Given the description of an element on the screen output the (x, y) to click on. 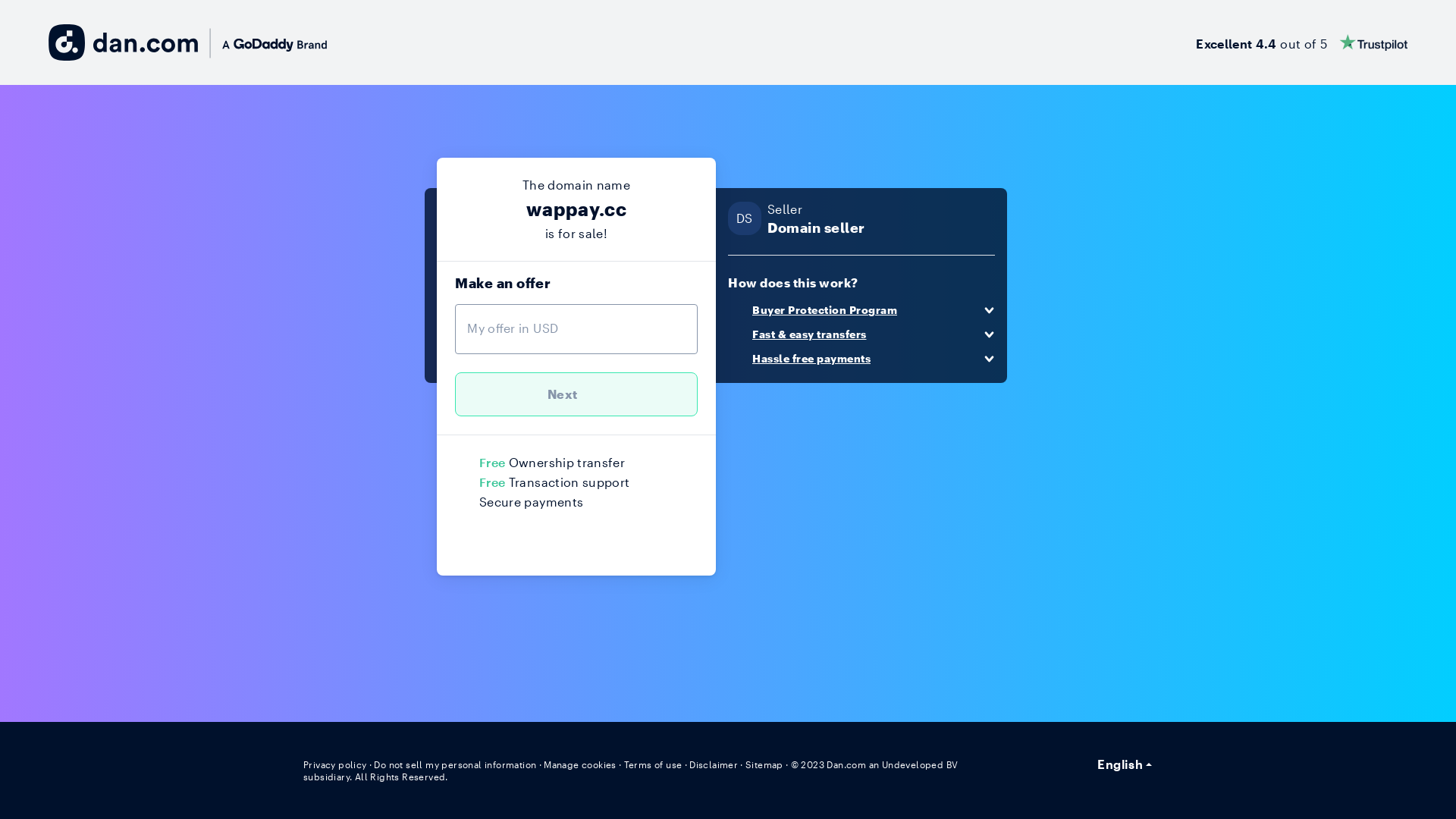
Disclaimer Element type: text (695, 764)
English Element type: text (1124, 763)
Privacy policy Element type: text (333, 764)
Do not sell my personal information Element type: text (447, 764)
Manage cookies Element type: text (566, 764)
Excellent 4.4 out of 5 Element type: text (1303, 42)
Next
) Element type: text (576, 394)
Terms of use Element type: text (637, 764)
Sitemap Element type: text (744, 764)
